Given the description of an element on the screen output the (x, y) to click on. 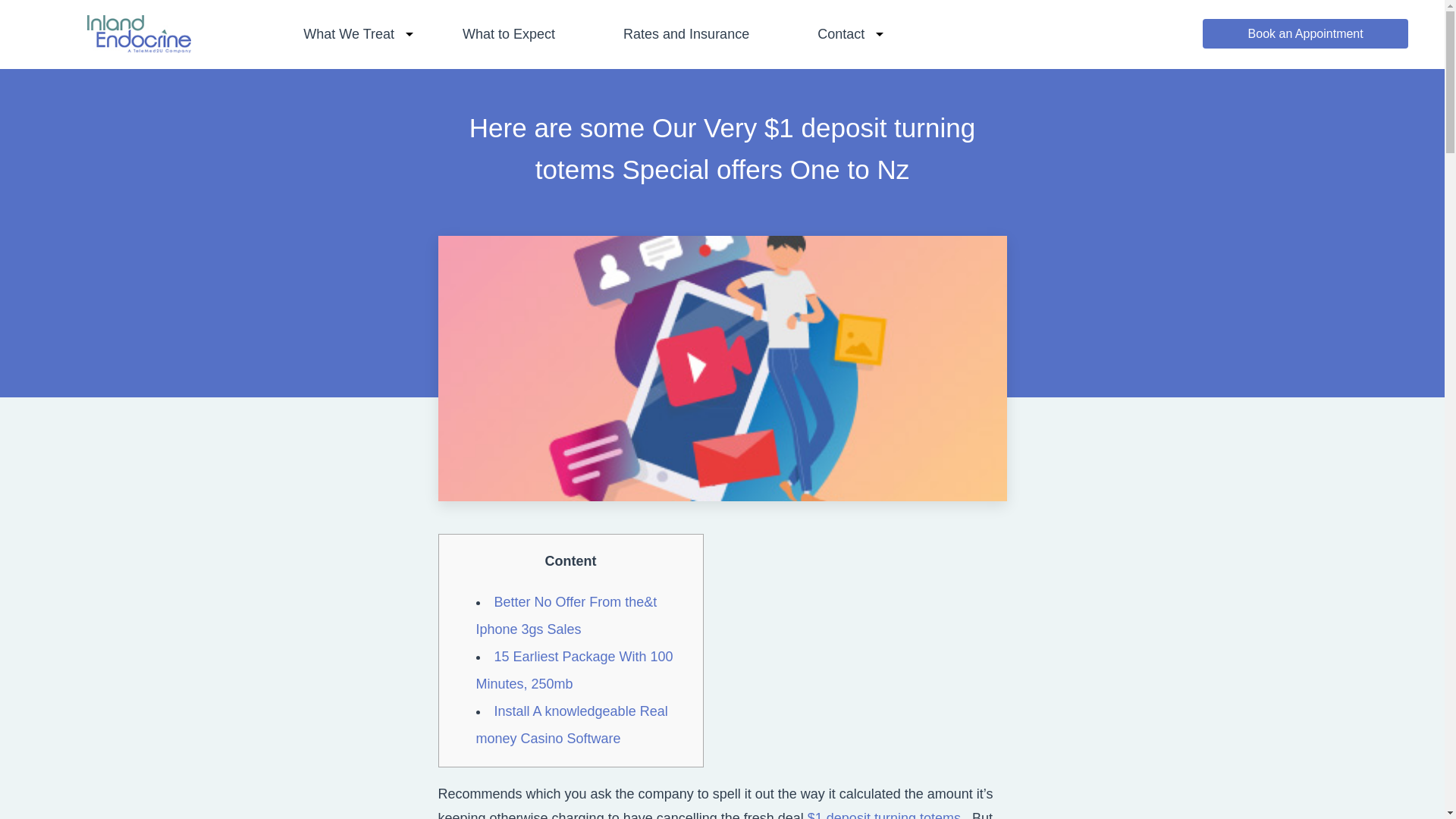
Book an Appointment (1304, 33)
Rates and Insurance (686, 33)
What We Treat (348, 33)
Inland Endocrine (138, 48)
Install A knowledgeable Real money Casino Software (572, 724)
15 Earliest Package With 100 Minutes, 250mb (574, 670)
What to Expect (508, 33)
Contact (840, 33)
